Given the description of an element on the screen output the (x, y) to click on. 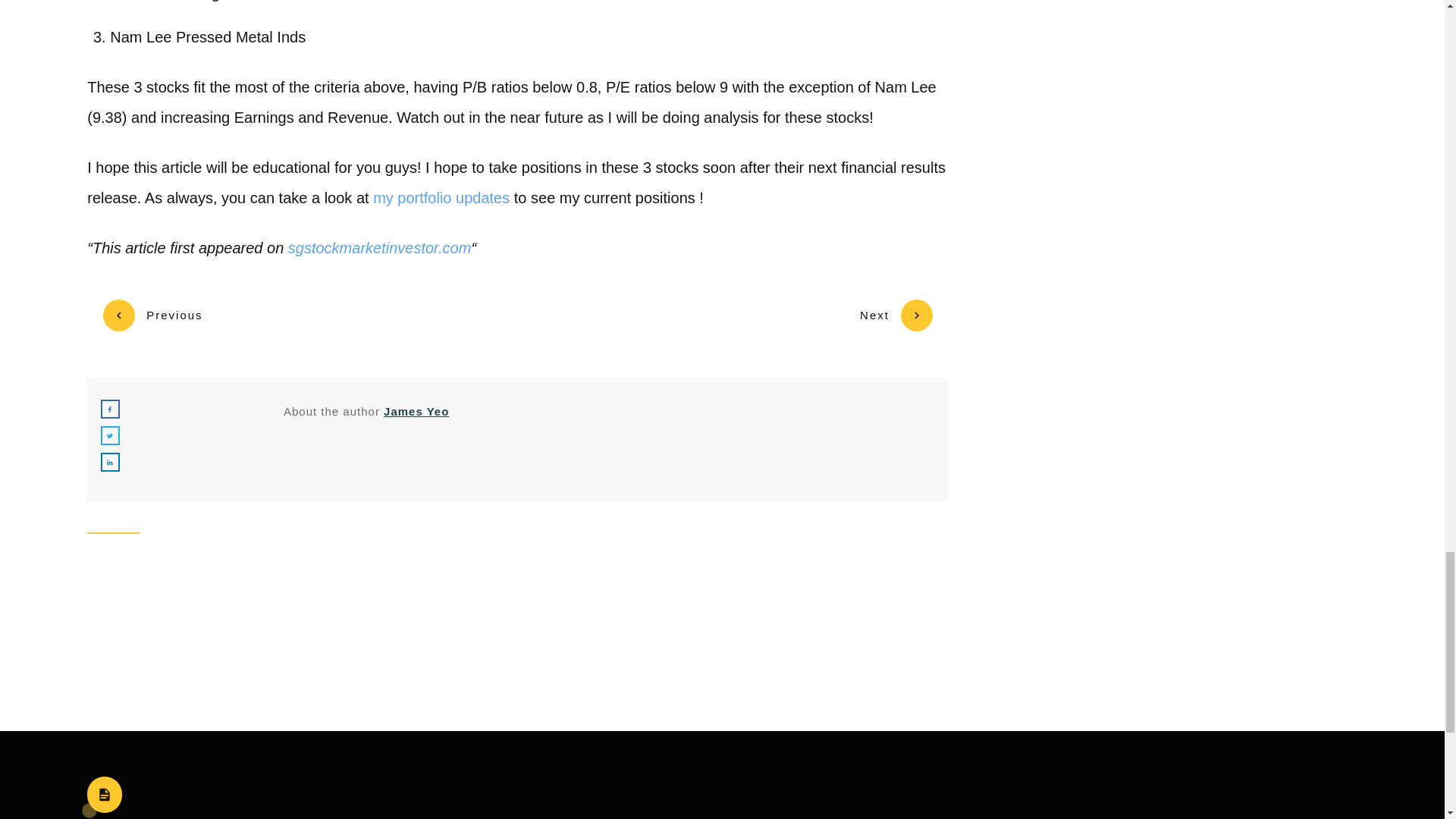
sgstockmarketinvestor.com (379, 247)
James Yeo (416, 410)
James Yeo (416, 410)
Next (896, 315)
Previous (152, 315)
my portfolio updates (440, 197)
